Given the description of an element on the screen output the (x, y) to click on. 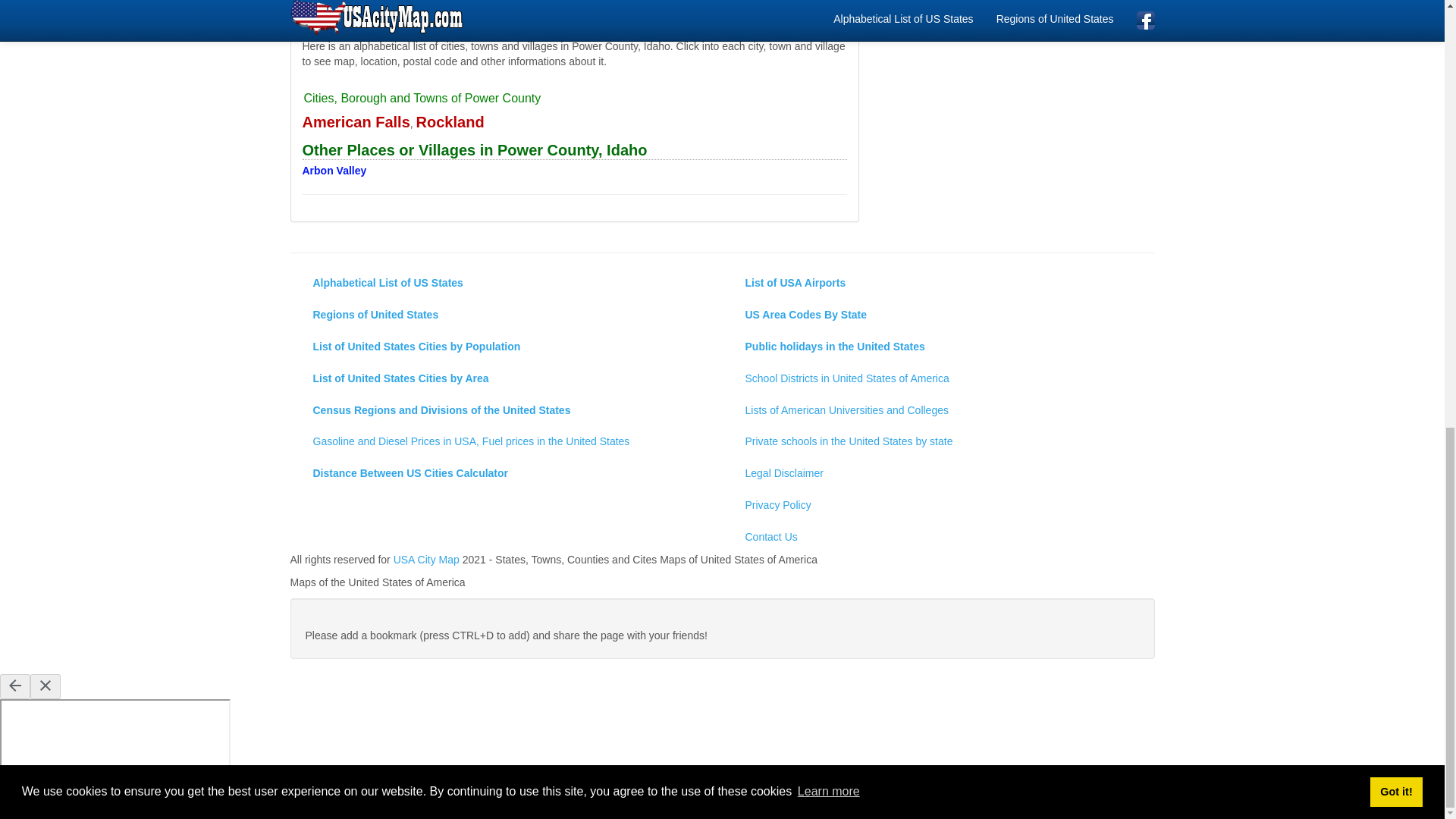
American Falls Satellite View Map (355, 123)
Distance Between US Cities Calculator (506, 473)
User Agreement (810, 26)
Legal Disclaimer (937, 473)
Census Regions and Divisions of the United States (506, 410)
Lists of American Universities and Colleges (937, 410)
Regions of United States (506, 315)
Rockland (450, 123)
List of USA Airports (937, 283)
List of United States Cities by Area (506, 378)
Arbon Valley Satellite View Map (333, 170)
US Area Codes By State (937, 315)
Public holidays in the United States (937, 347)
Privacy Policy (937, 505)
